Given the description of an element on the screen output the (x, y) to click on. 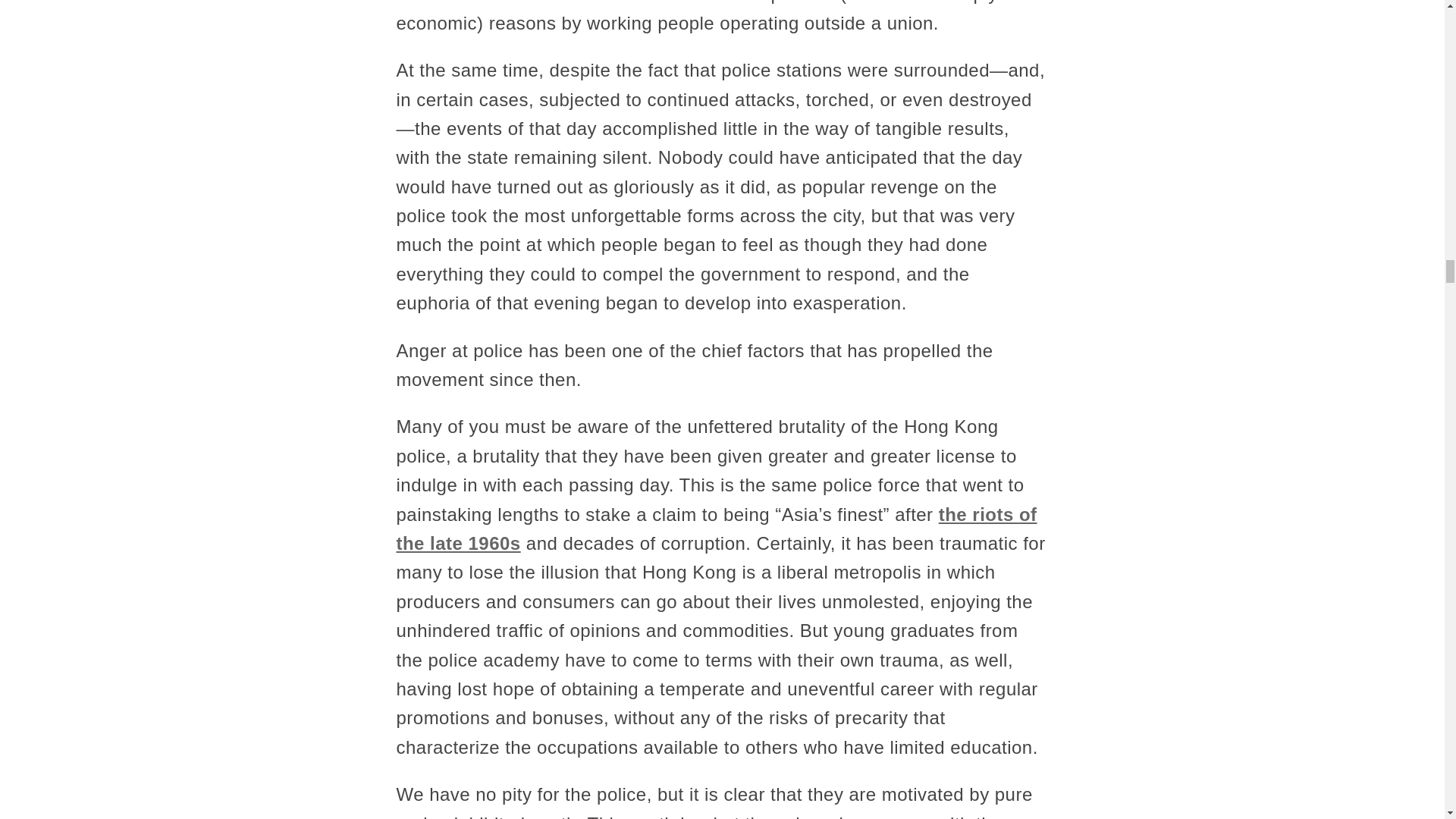
the riots of the late 1960s (716, 528)
